Given the description of an element on the screen output the (x, y) to click on. 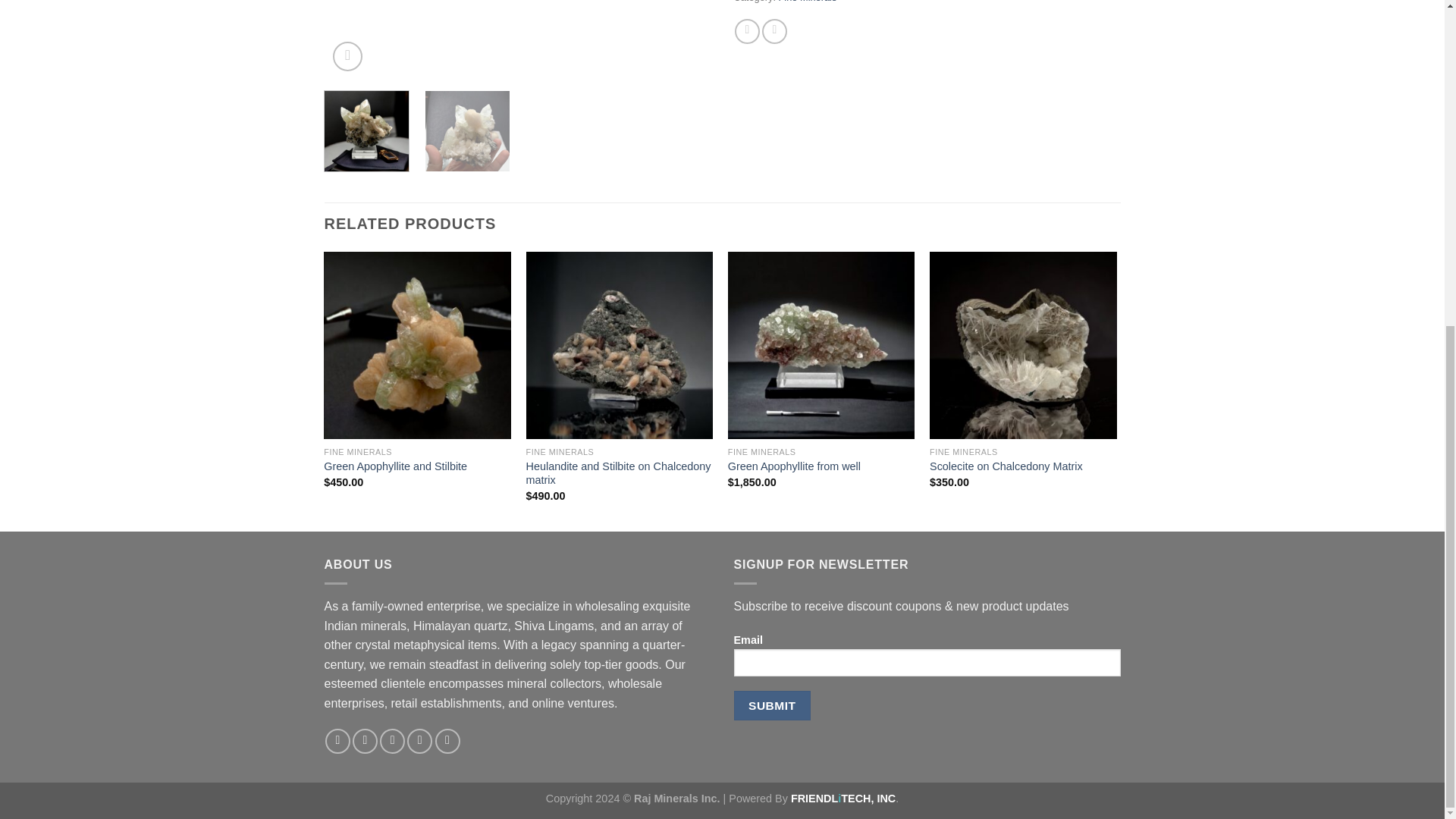
Fine Minerals (807, 1)
Share on Facebook (747, 31)
Email to a Friend (774, 31)
Follow on Instagram (364, 740)
Zoom (347, 56)
Submit (771, 705)
Follow on Facebook (337, 740)
